Given the description of an element on the screen output the (x, y) to click on. 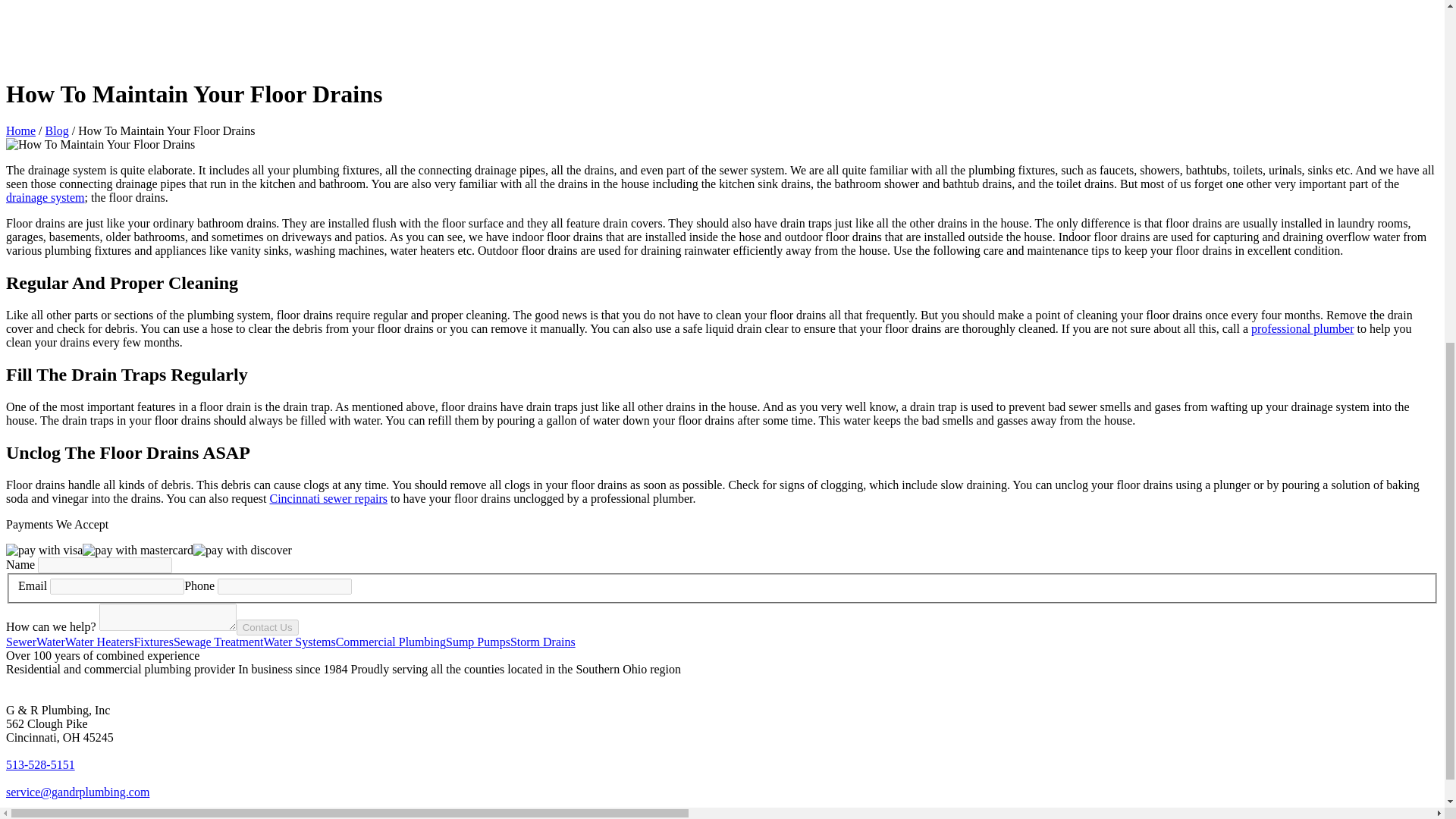
Blog (56, 130)
Home (19, 130)
